Given the description of an element on the screen output the (x, y) to click on. 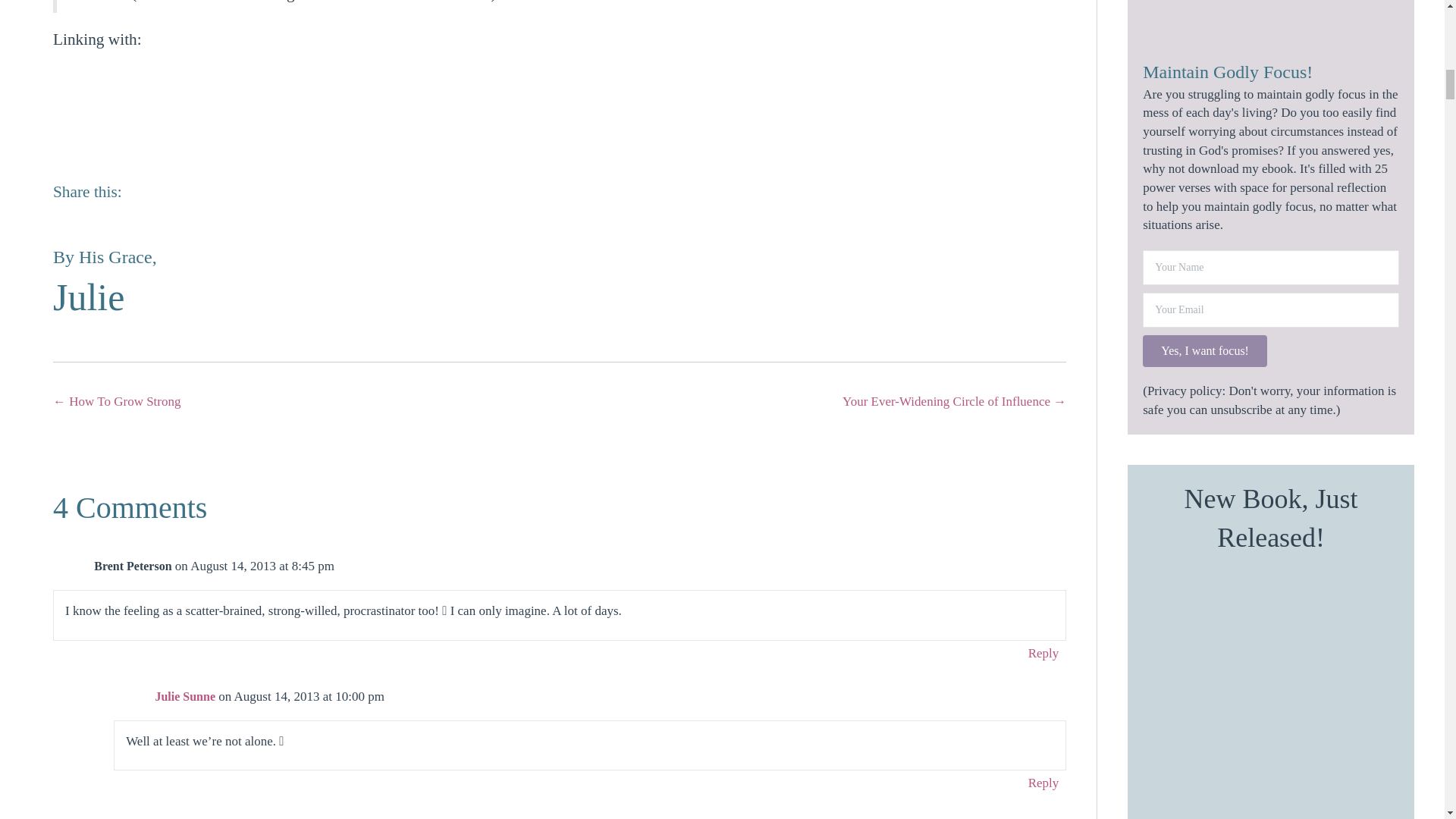
Julie Sunne (184, 696)
Reply (1043, 653)
Reply (1043, 782)
